Given the description of an element on the screen output the (x, y) to click on. 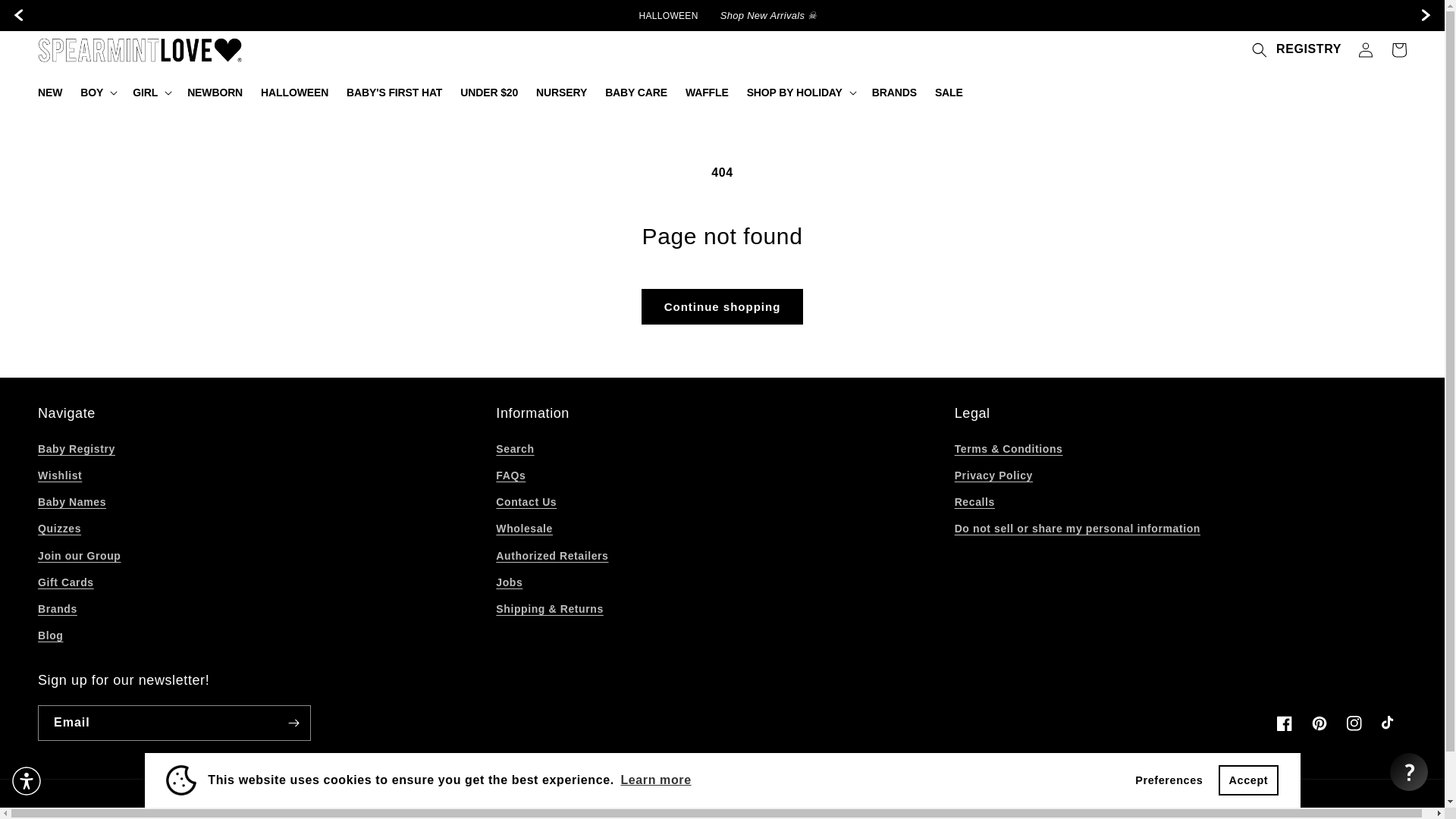
HALLOWEEN (668, 15)
Learn more (655, 780)
Preferences (1168, 779)
Accept (1248, 779)
Accessibility Menu (26, 780)
Skip to content (45, 17)
